Given the description of an element on the screen output the (x, y) to click on. 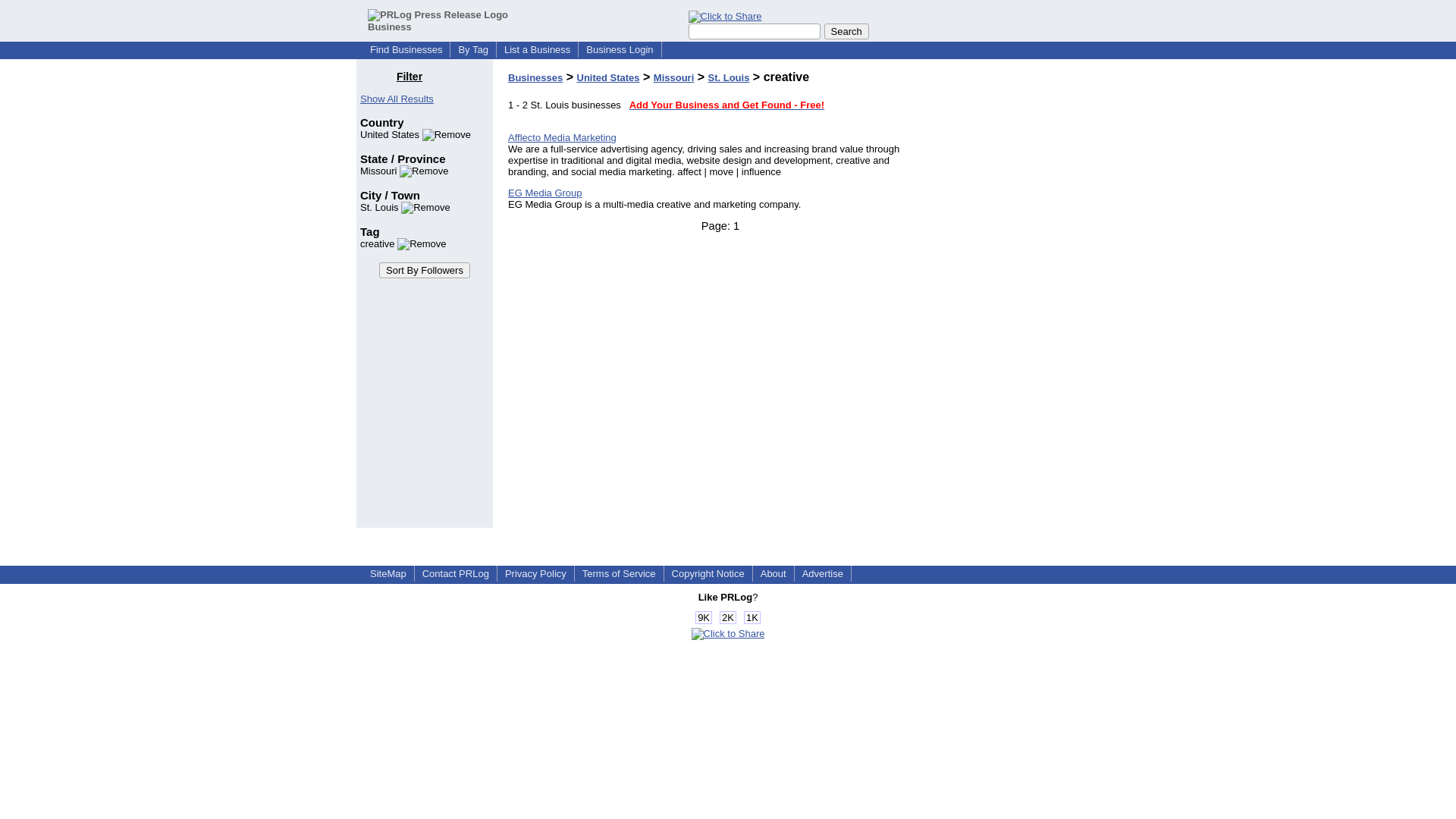
Show All Results (396, 98)
Afflecto Media Marketing (561, 137)
St. Louis (728, 77)
Sort By Followers (424, 270)
Click to remove this filter (402, 243)
List a Business (536, 49)
SiteMap (388, 573)
St. Louis (404, 206)
Business Login (619, 49)
Copyright Notice (708, 573)
